Given the description of an element on the screen output the (x, y) to click on. 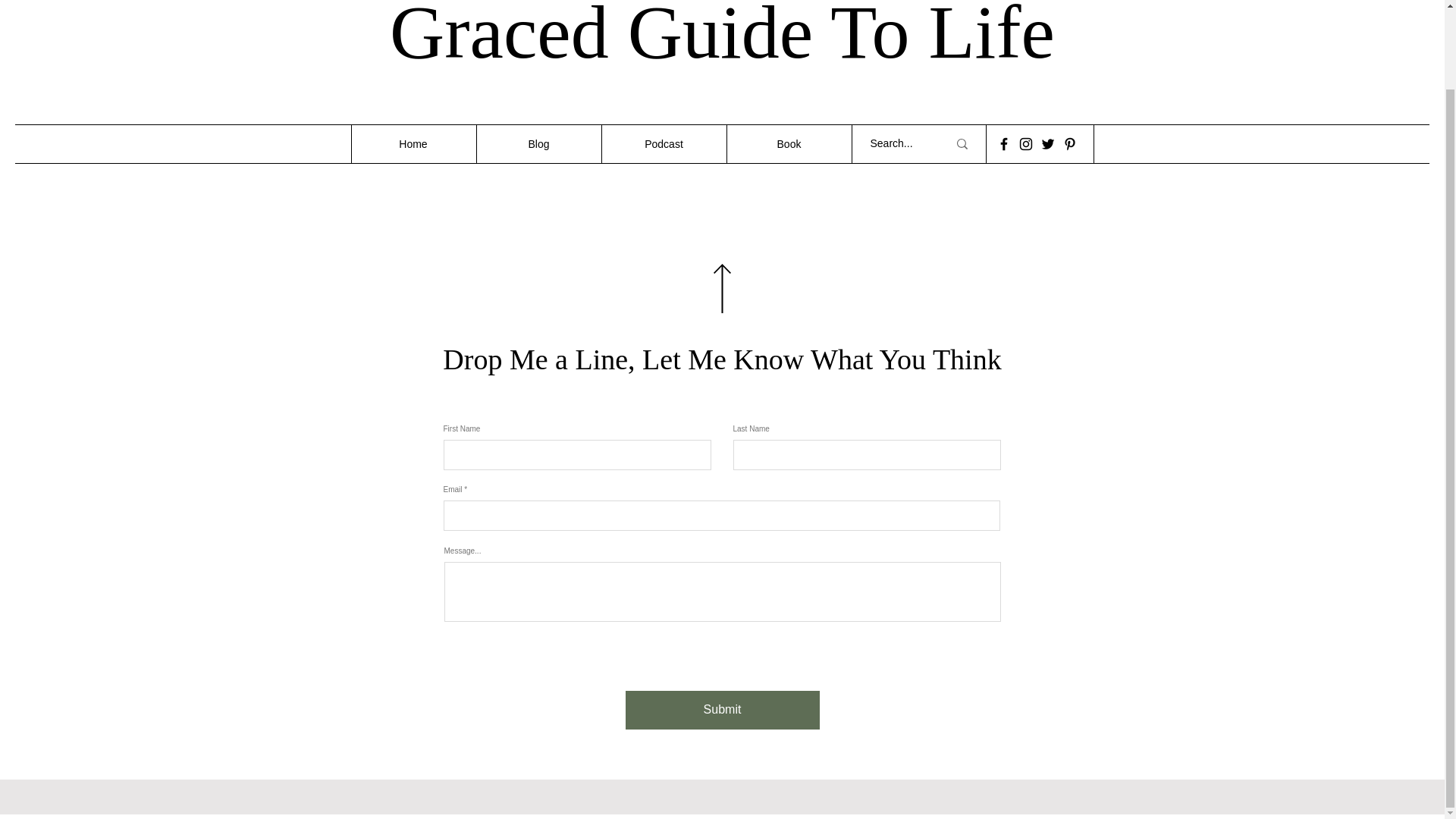
Book (788, 143)
Graced Guide To Life (722, 37)
Submit (721, 710)
Podcast (662, 143)
Home (413, 143)
Blog (538, 143)
